Given the description of an element on the screen output the (x, y) to click on. 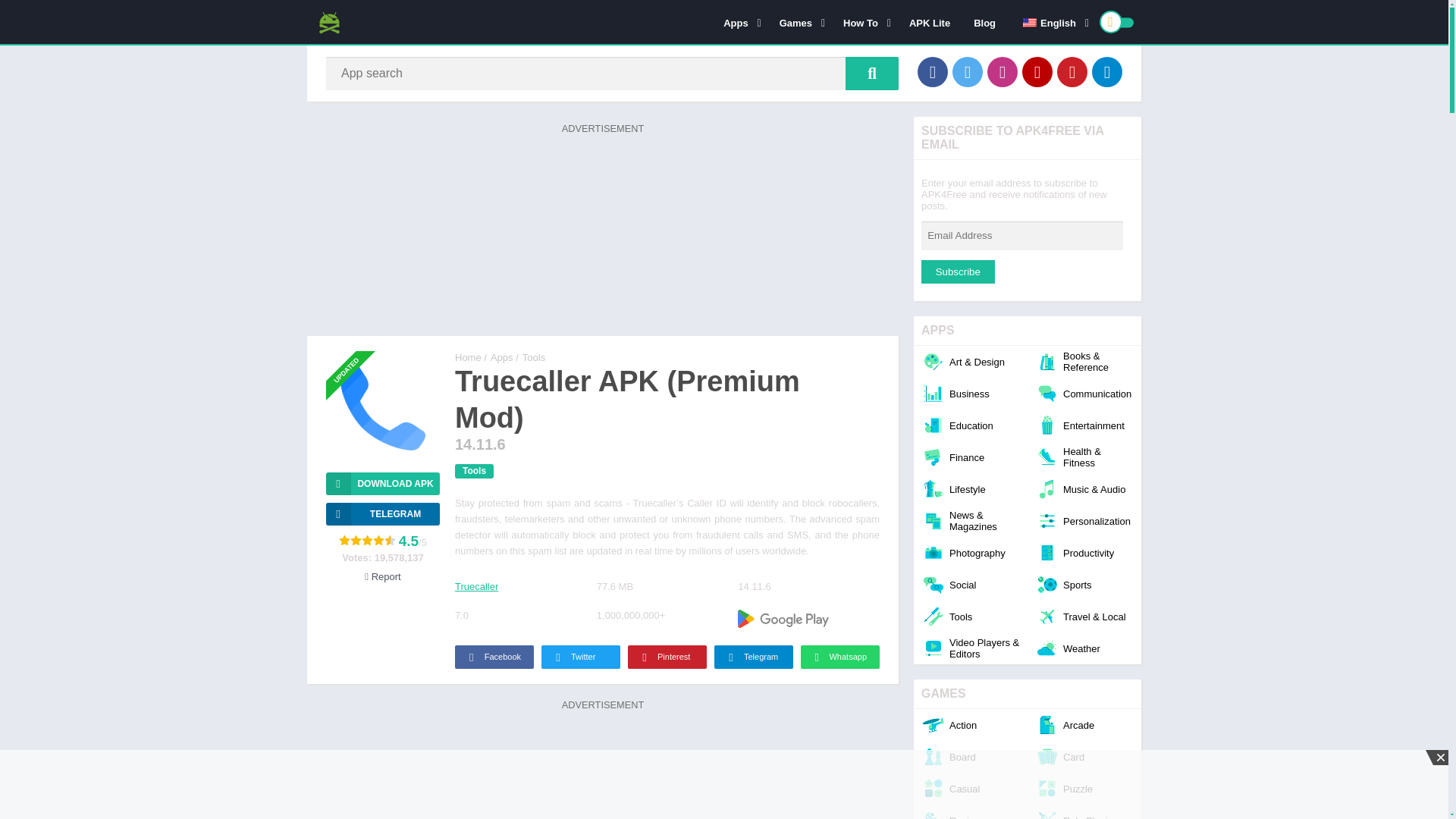
Apps (739, 22)
English (1029, 22)
